Given the description of an element on the screen output the (x, y) to click on. 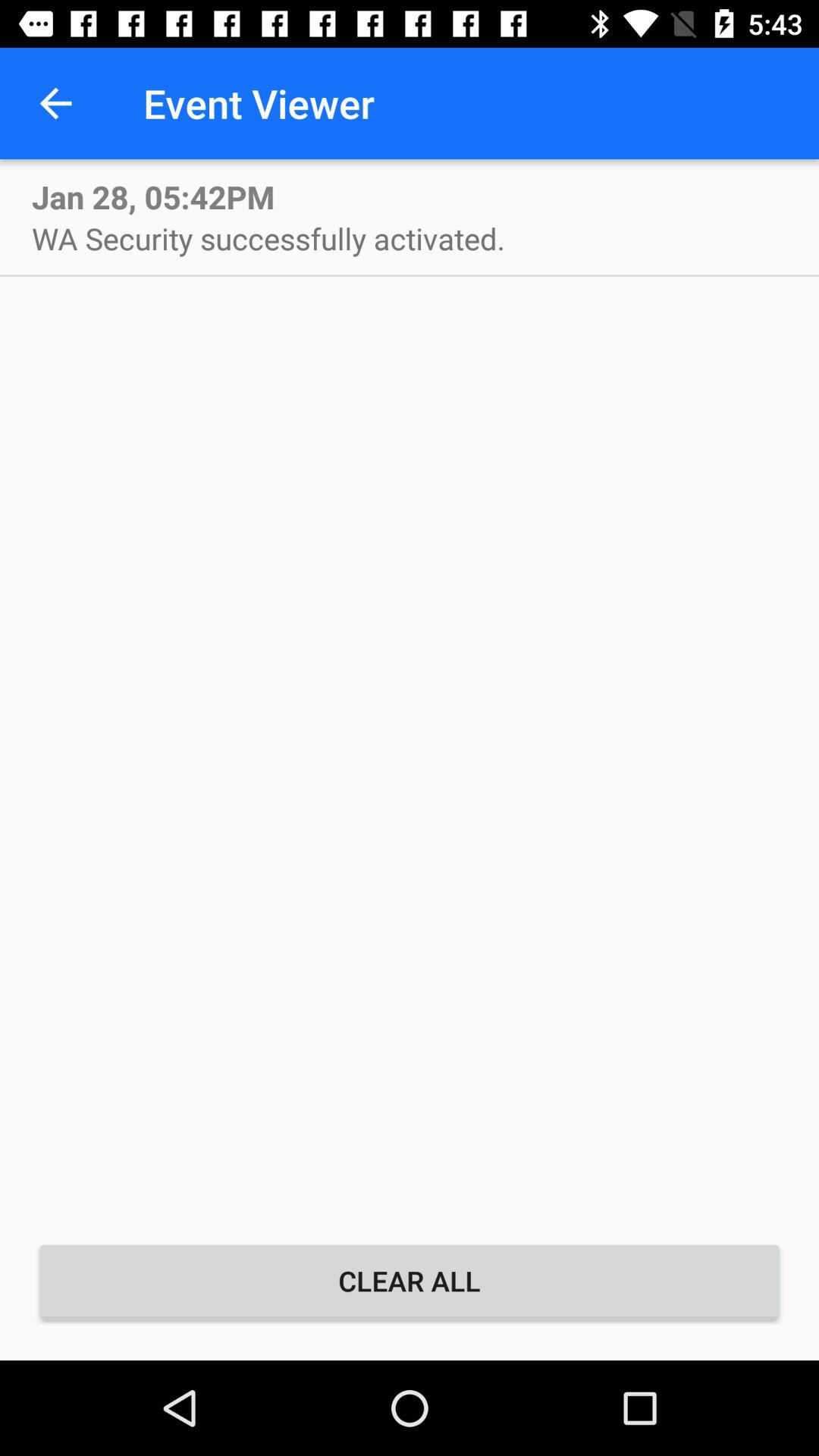
turn on jan 28 05 (152, 196)
